Given the description of an element on the screen output the (x, y) to click on. 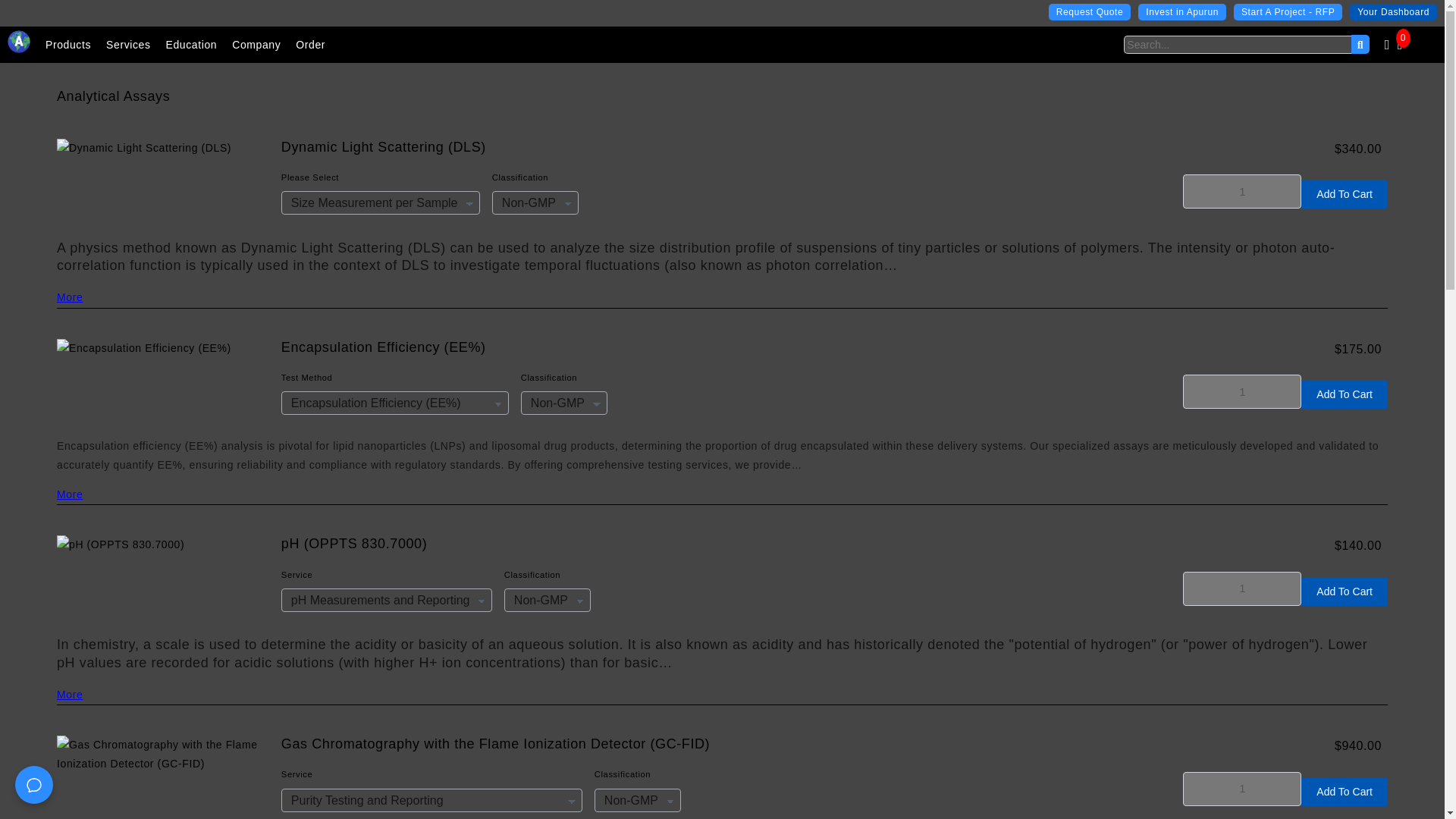
1 (1241, 588)
1 (1241, 391)
Skip to content (45, 17)
1 (1241, 191)
1 (1241, 788)
